Given the description of an element on the screen output the (x, y) to click on. 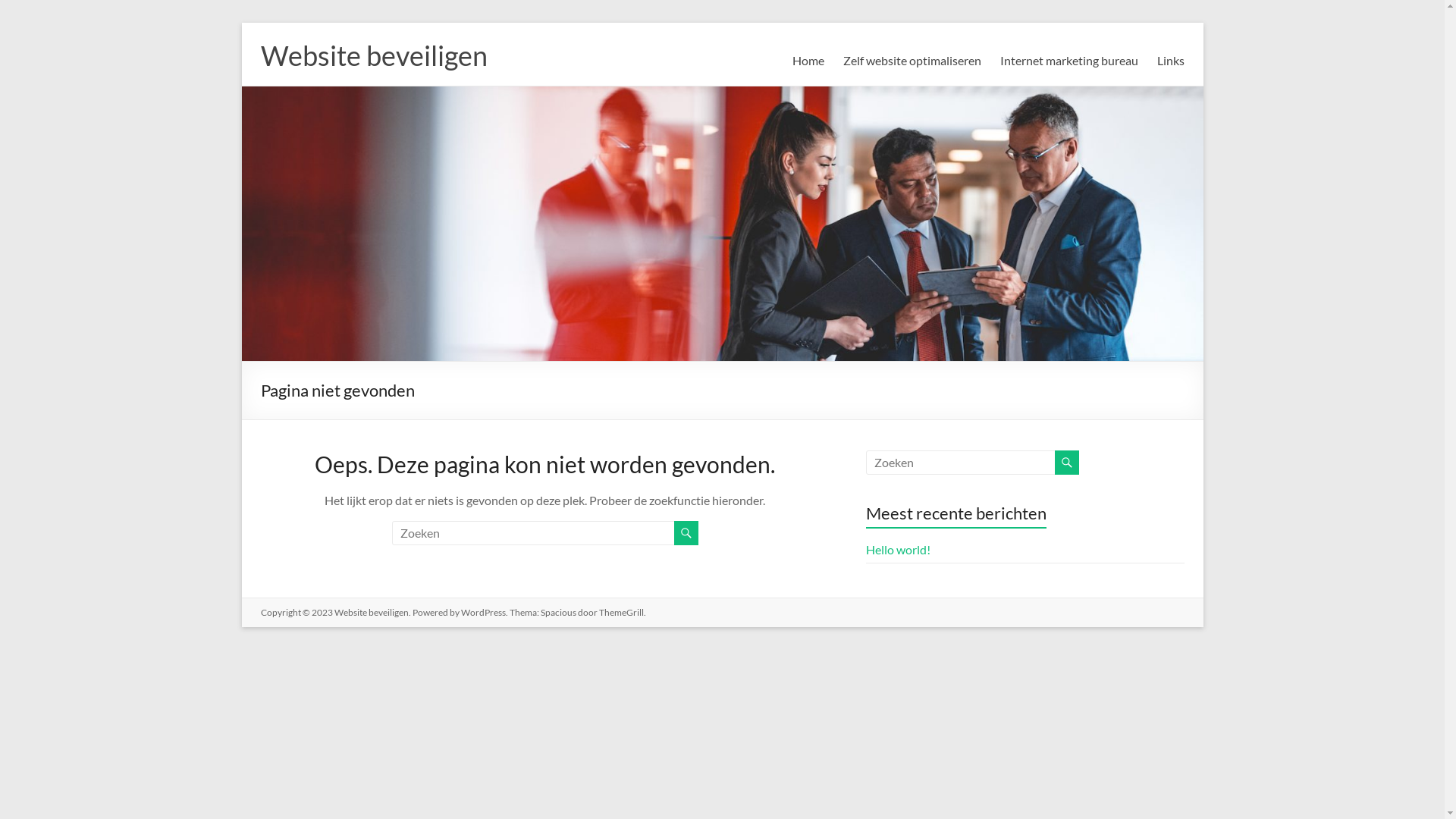
WordPress Element type: text (483, 612)
Zelf website optimaliseren Element type: text (912, 60)
Website beveiligen Element type: text (373, 55)
Links Element type: text (1170, 60)
Internet marketing bureau Element type: text (1068, 60)
Hello world! Element type: text (898, 549)
Home Element type: text (807, 60)
Website beveiligen Element type: text (370, 612)
ThemeGrill Element type: text (621, 612)
Skip to content Element type: text (241, 21)
